Given the description of an element on the screen output the (x, y) to click on. 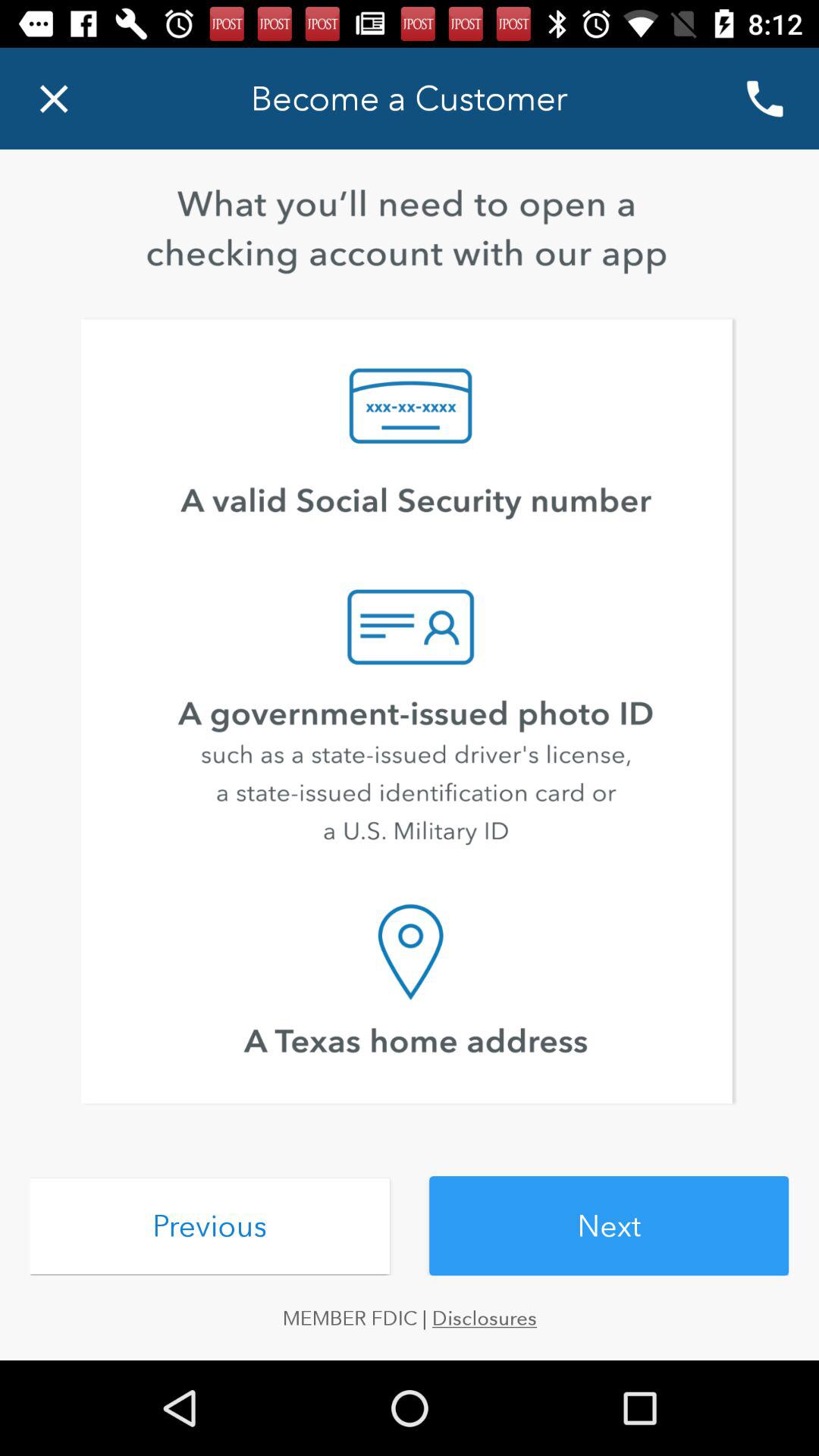
choose the item to the right of previous icon (608, 1225)
